Given the description of an element on the screen output the (x, y) to click on. 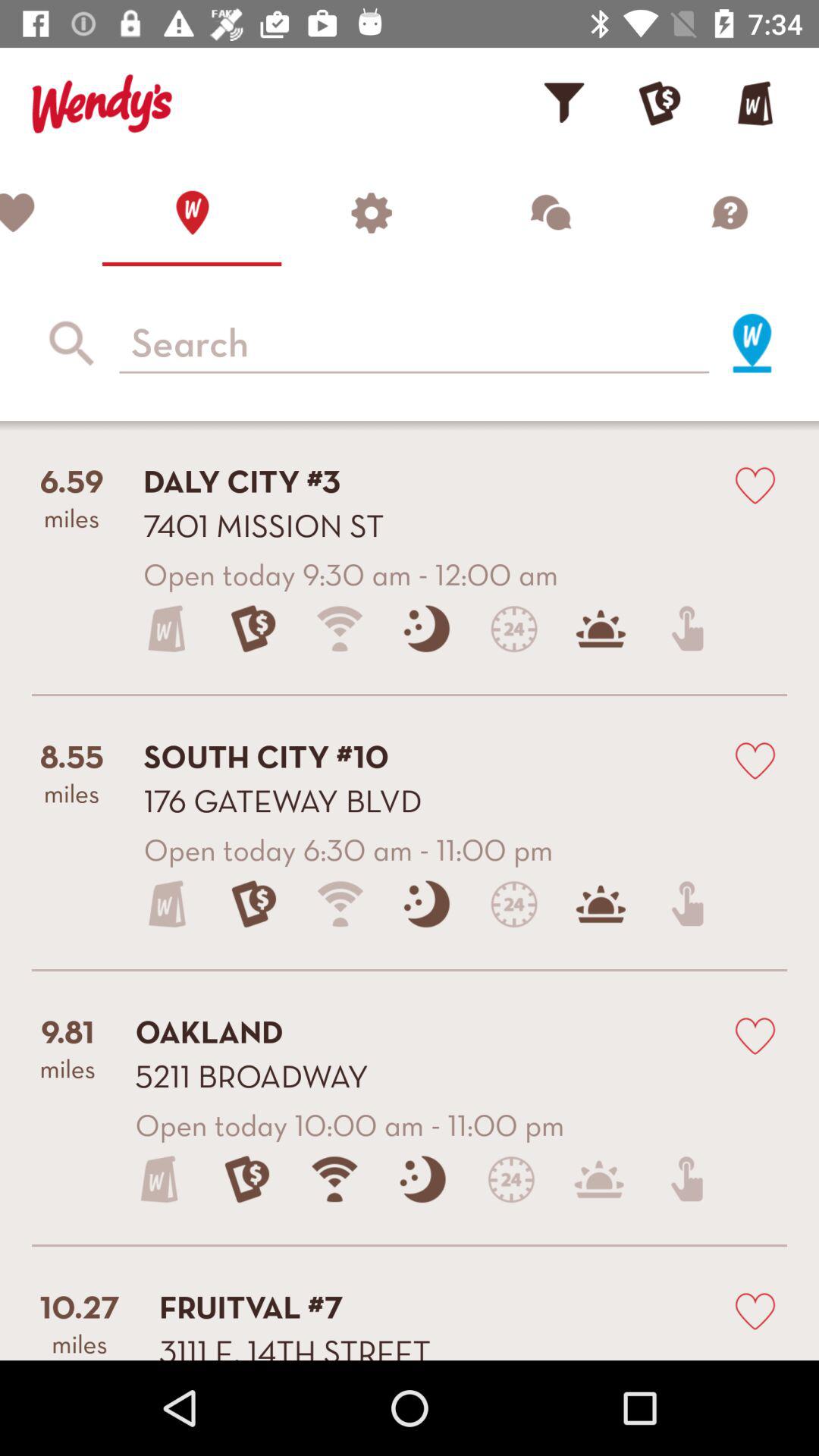
click tools (370, 212)
